Given the description of an element on the screen output the (x, y) to click on. 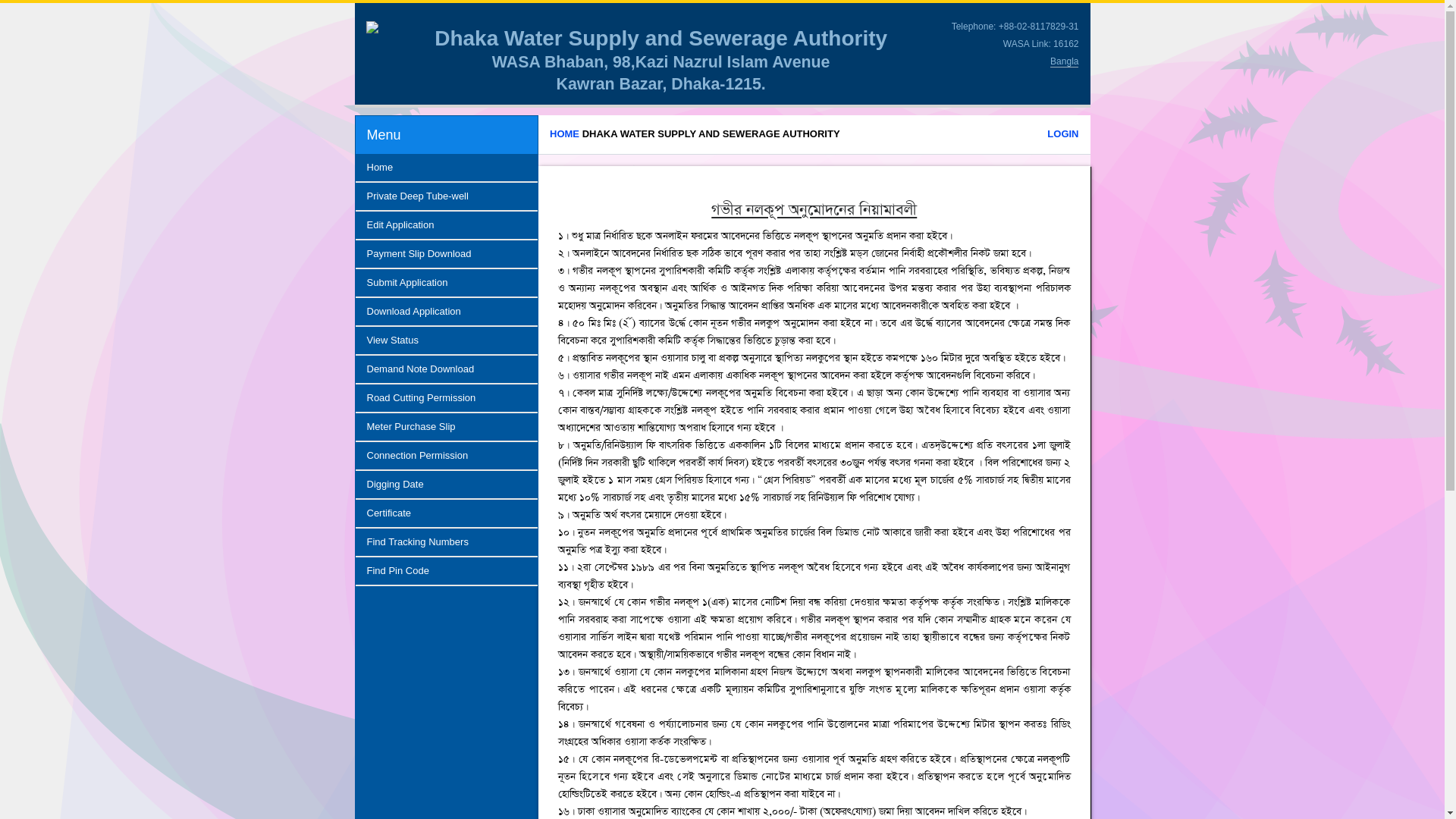
Certificate Element type: text (445, 513)
Road Cutting Permission Element type: text (445, 397)
Demand Note Download Element type: text (445, 368)
Home Element type: text (445, 167)
Submit Application Element type: text (445, 282)
Connection Permission Element type: text (445, 455)
Private Deep Tube-well Element type: text (445, 196)
Edit Application Element type: text (445, 224)
LOGIN Element type: text (1062, 133)
Find Tracking Numbers Element type: text (445, 541)
Universe Element type: hover (371, 26)
Meter Purchase Slip Element type: text (445, 426)
Download Application Element type: text (445, 311)
View Status Element type: text (445, 340)
Find Pin Code Element type: text (445, 570)
HOME Element type: text (564, 133)
Payment Slip Download Element type: text (445, 253)
Digging Date Element type: text (445, 484)
Menu Element type: text (382, 134)
Bangla Element type: text (1064, 61)
